Given the description of an element on the screen output the (x, y) to click on. 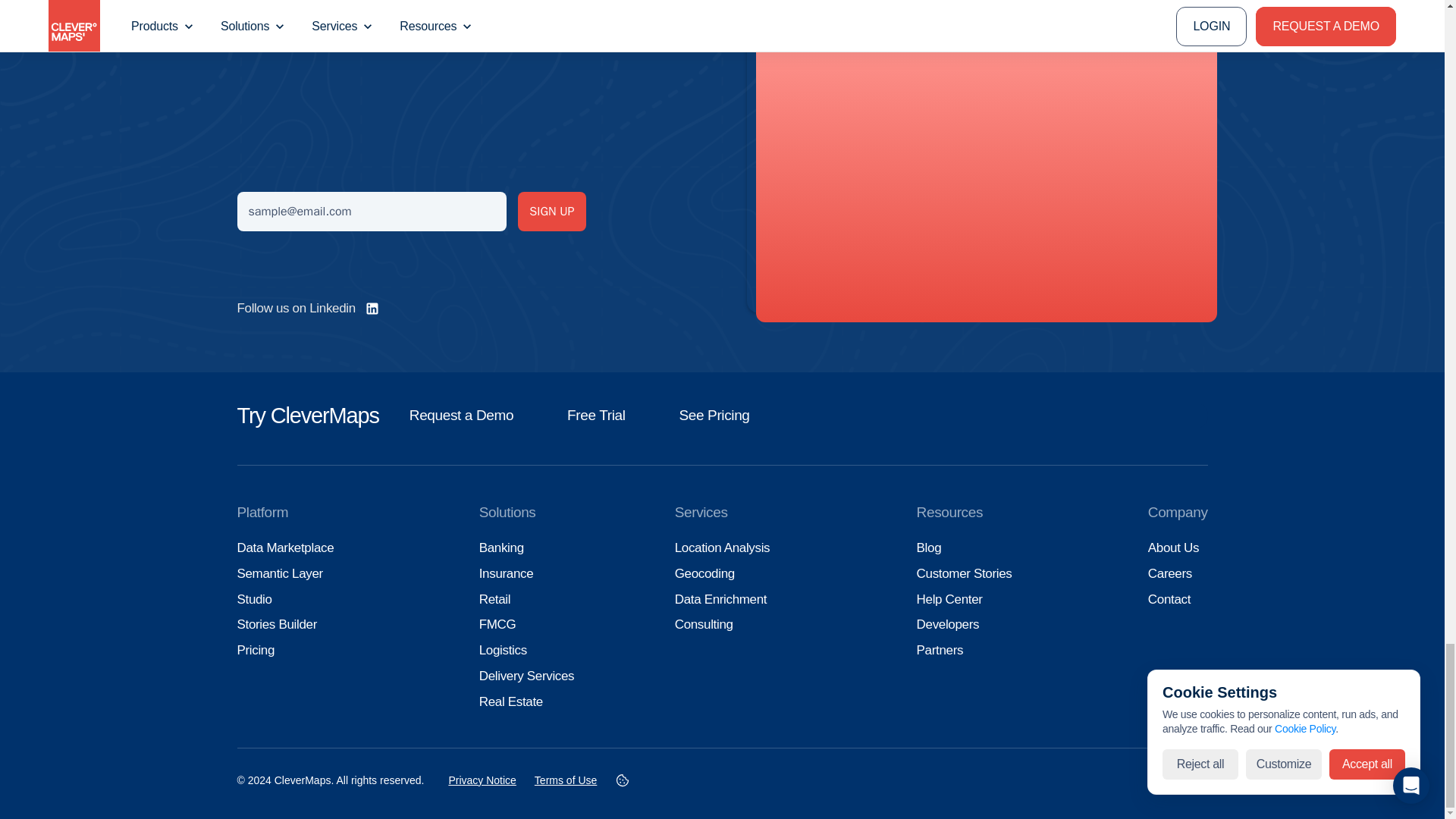
Location Analysis (722, 547)
Contact (1169, 599)
See Pricing (714, 415)
Data Marketplace (284, 547)
About Us (1173, 547)
SIGN UP (551, 210)
Logistics (503, 649)
SIGN UP (551, 210)
Insurance (506, 573)
Request a Demo (461, 415)
Retail (495, 599)
Partners (940, 649)
Stories Builder (275, 624)
Careers (1170, 573)
Privacy Notice (481, 779)
